Given the description of an element on the screen output the (x, y) to click on. 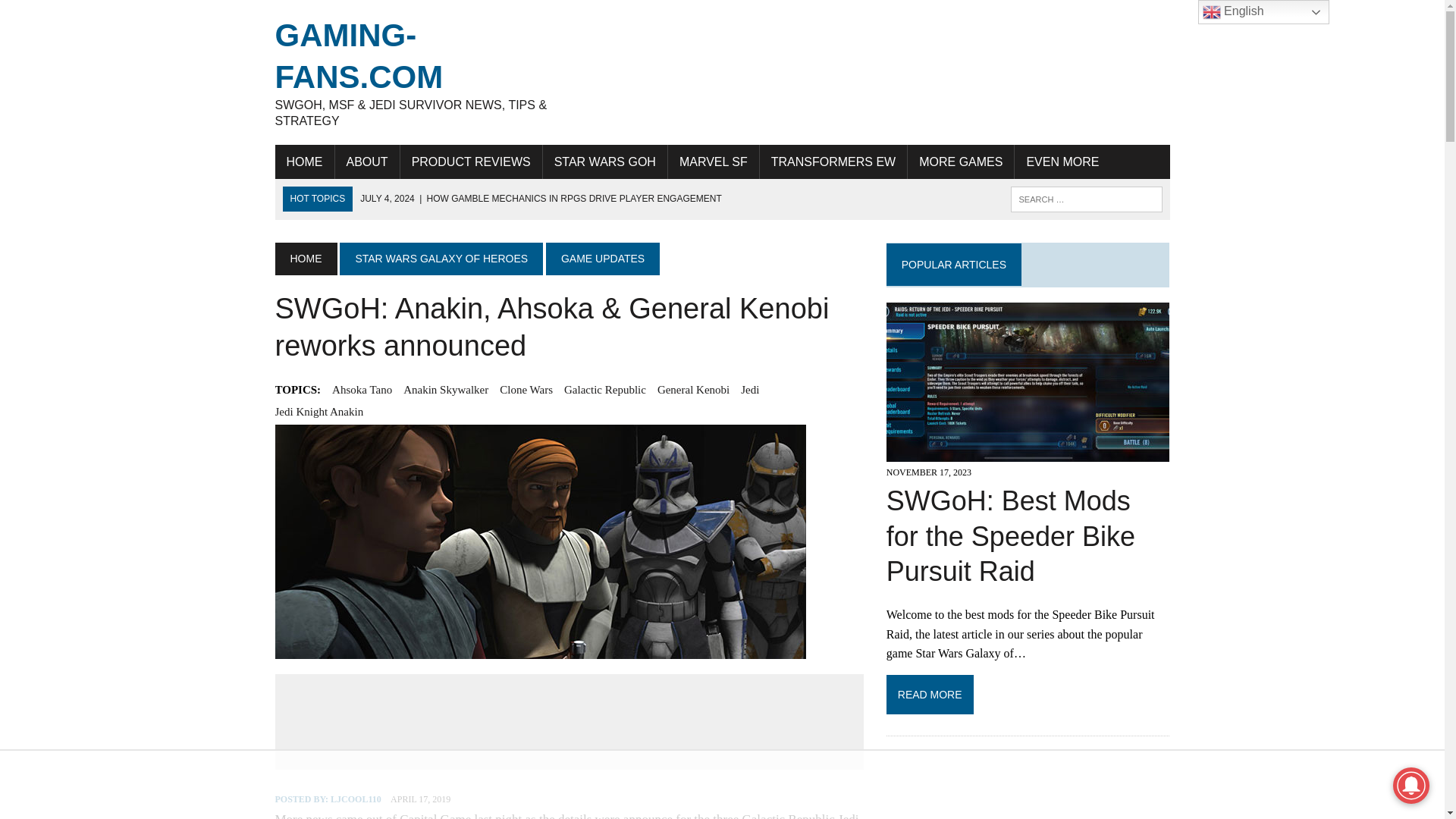
Gaming-Fans.com (416, 72)
How gamble mechanics in RPGs drive player engagement (540, 198)
